Given the description of an element on the screen output the (x, y) to click on. 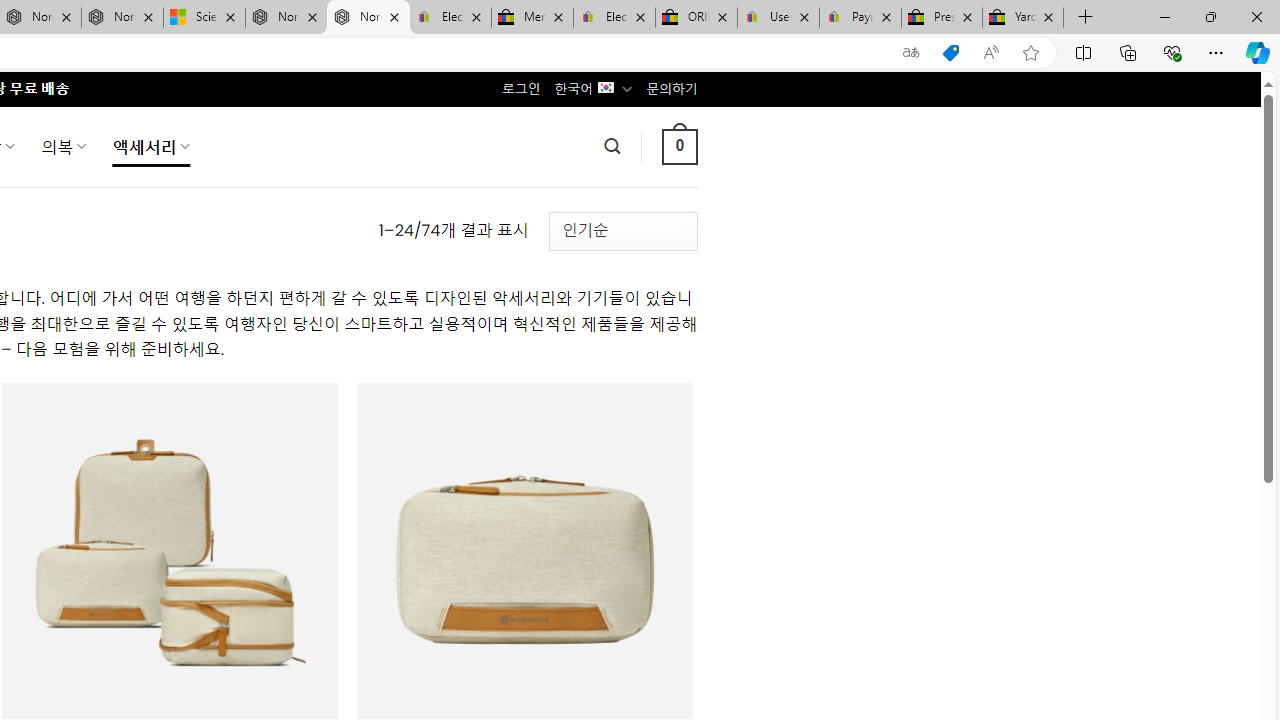
  0   (679, 146)
Payments Terms of Use | eBay.com (860, 17)
Yard, Garden & Outdoor Living (1023, 17)
